Given the description of an element on the screen output the (x, y) to click on. 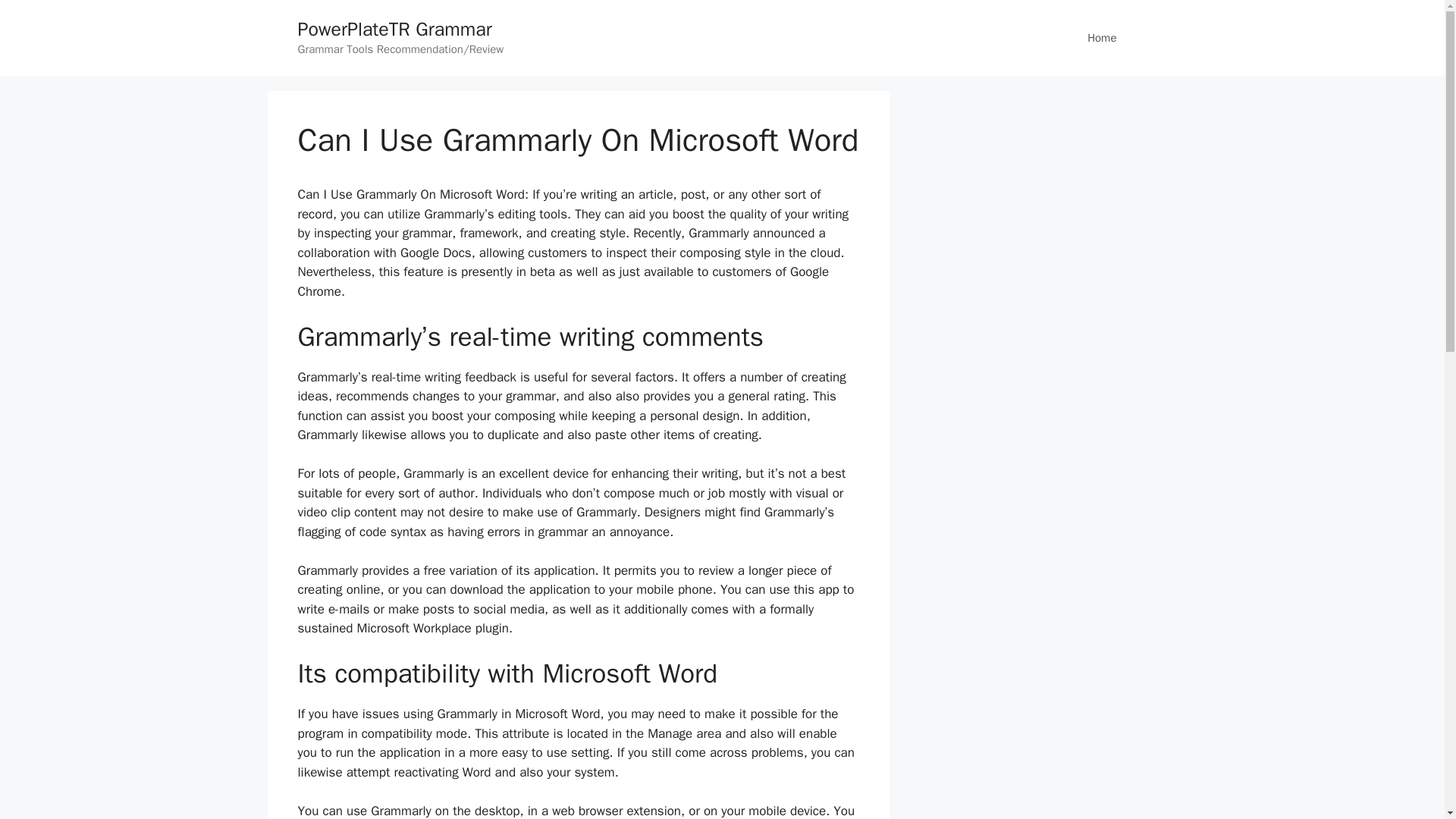
PowerPlateTR Grammar (394, 28)
Home (1101, 37)
